Given the description of an element on the screen output the (x, y) to click on. 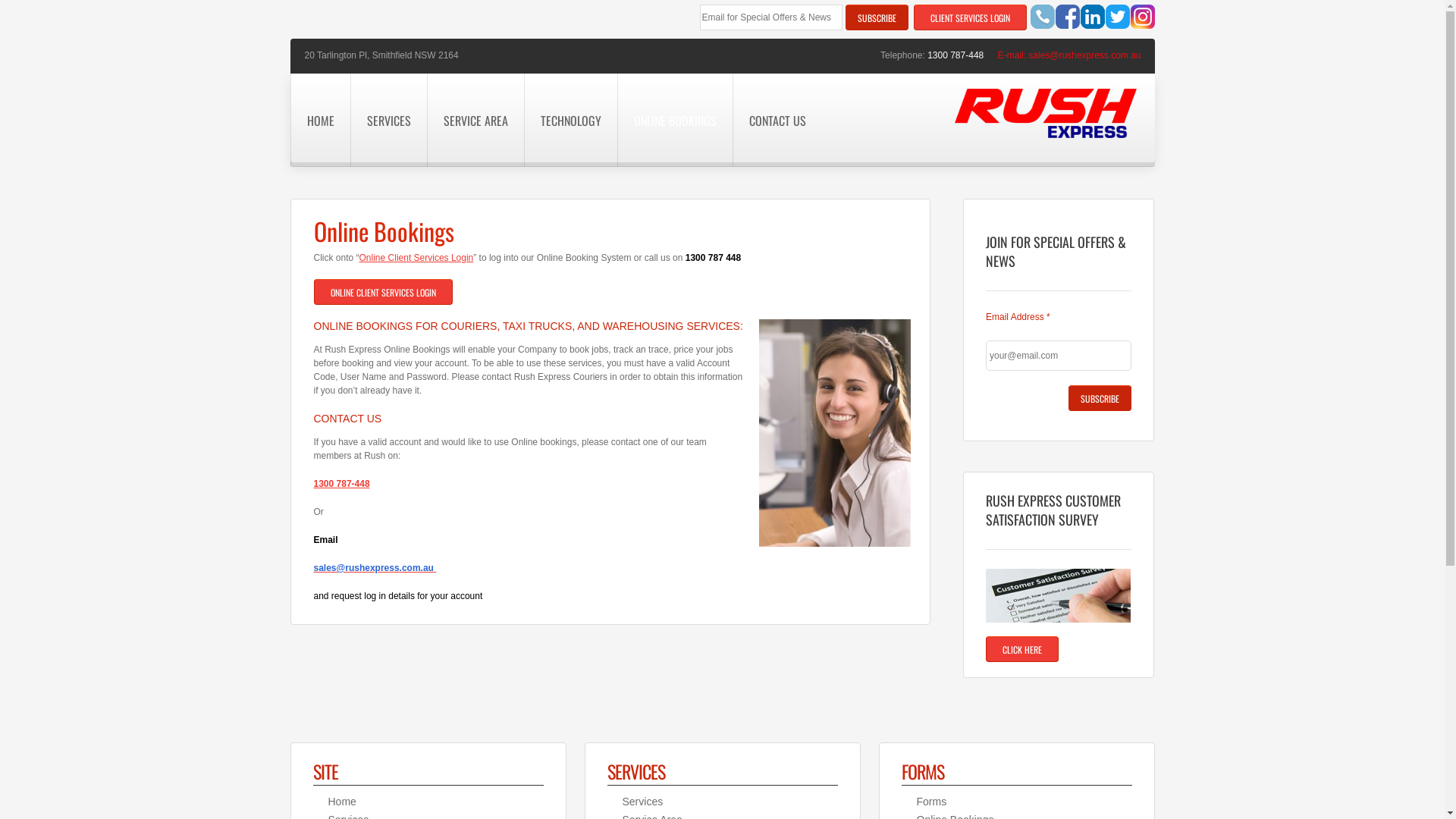
TECHNOLOGY Element type: text (569, 119)
ONLINE BOOKINGS Element type: text (674, 119)
HOME Element type: text (319, 119)
Forms Element type: text (931, 801)
sales@rushexpress.com.au Element type: text (1084, 55)
SERVICE AREA Element type: text (474, 119)
CONTACT US Element type: text (777, 119)
SERVICES Element type: text (388, 119)
1300 787-448 Element type: text (341, 483)
CLIENT SERVICES LOGIN Element type: text (969, 17)
20 Tarlington Pl, Smithfield NSW 2164 Element type: text (381, 55)
Home Element type: text (341, 801)
ONLINE CLIENT SERVICES LOGIN Element type: text (382, 291)
sales@rushexpress.com.au Element type: text (374, 567)
Telephone: 1300 787-448 Element type: text (937, 55)
Subscribe Element type: text (1099, 398)
Services Element type: text (641, 801)
CLICK HERE Element type: text (1021, 649)
Subscribe Element type: text (875, 17)
Online Client Services Login Element type: text (416, 257)
